Given the description of an element on the screen output the (x, y) to click on. 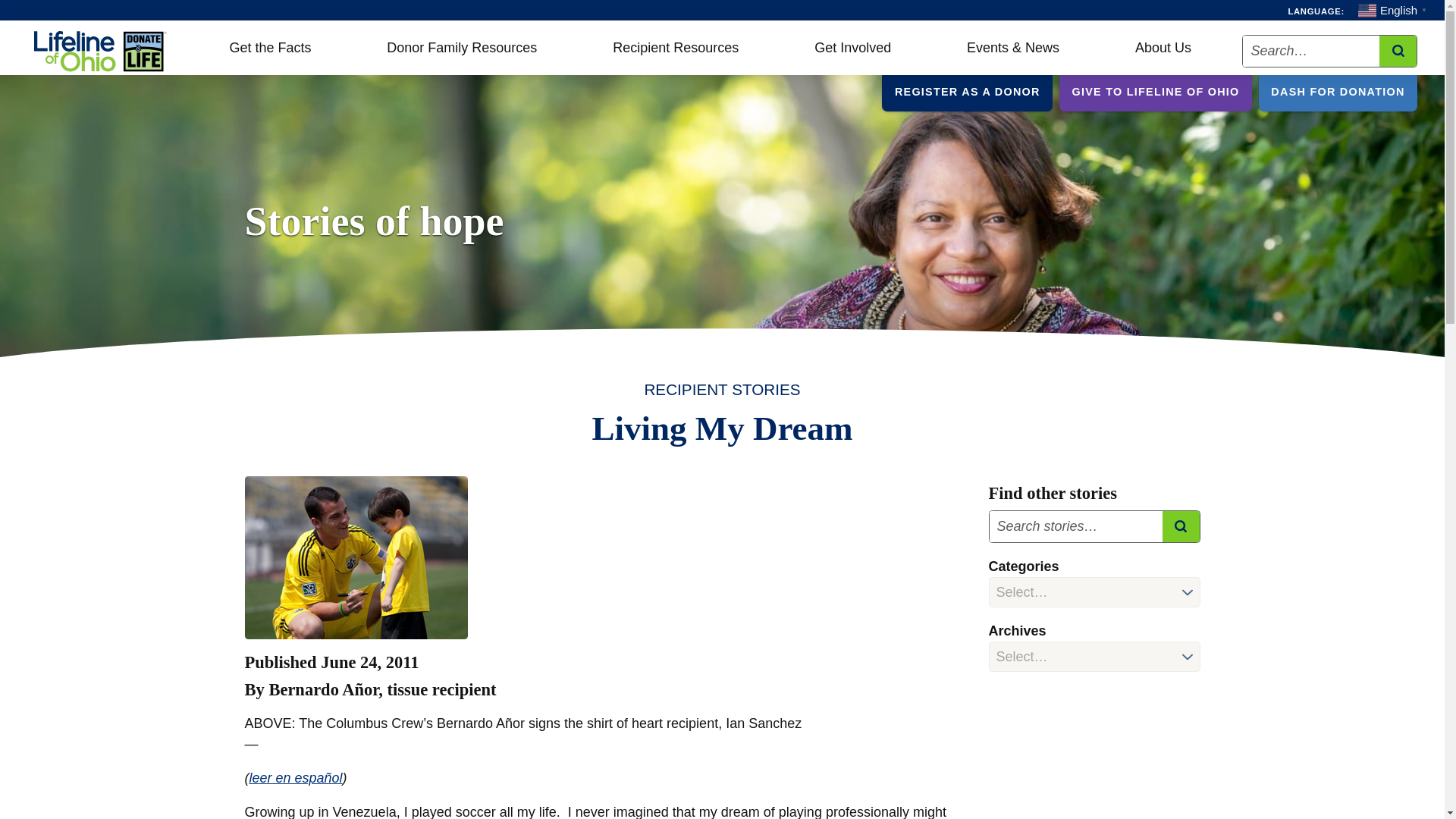
Donor Family Resources (462, 51)
Recipient Resources (675, 51)
Get Involved (852, 51)
Get the Facts (270, 51)
Lifeline of Ohio (101, 50)
